Given the description of an element on the screen output the (x, y) to click on. 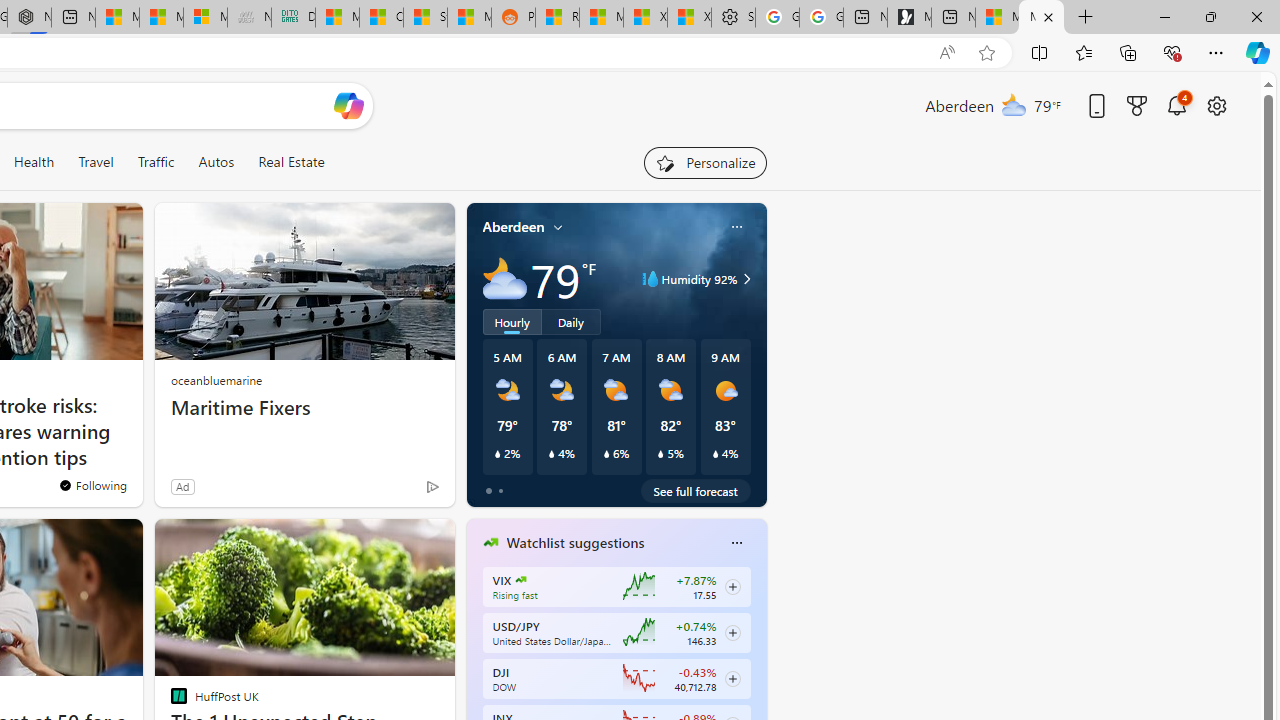
R******* | Trusted Community Engagement and Contributions (557, 17)
Class: follow-button  m (732, 678)
